Given the description of an element on the screen output the (x, y) to click on. 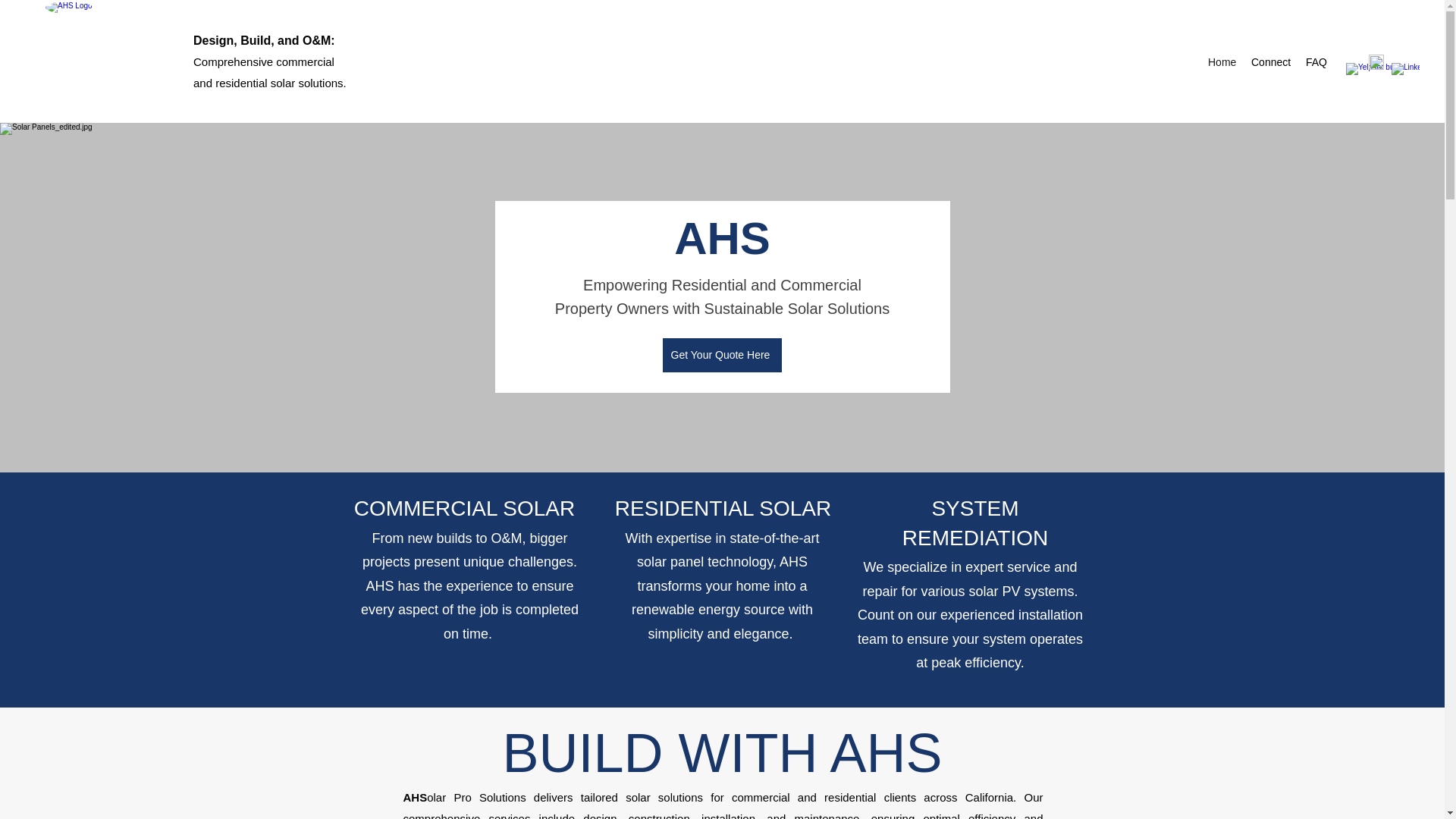
FAQ (1316, 61)
Home (1221, 61)
Get Your Quote Here (721, 355)
Connect (1270, 61)
